Given the description of an element on the screen output the (x, y) to click on. 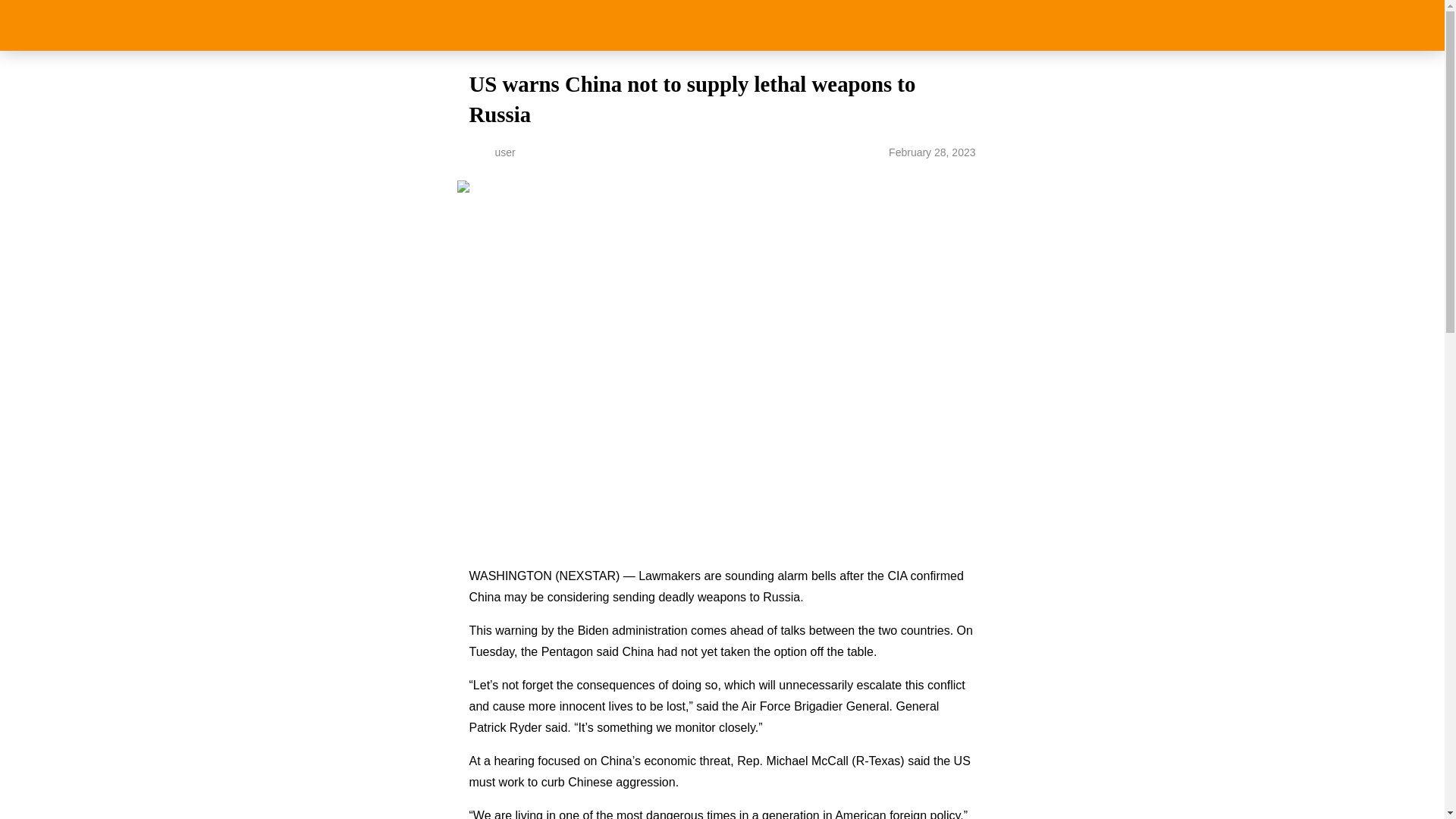
Illinoisnewstoday.com (721, 25)
